Given the description of an element on the screen output the (x, y) to click on. 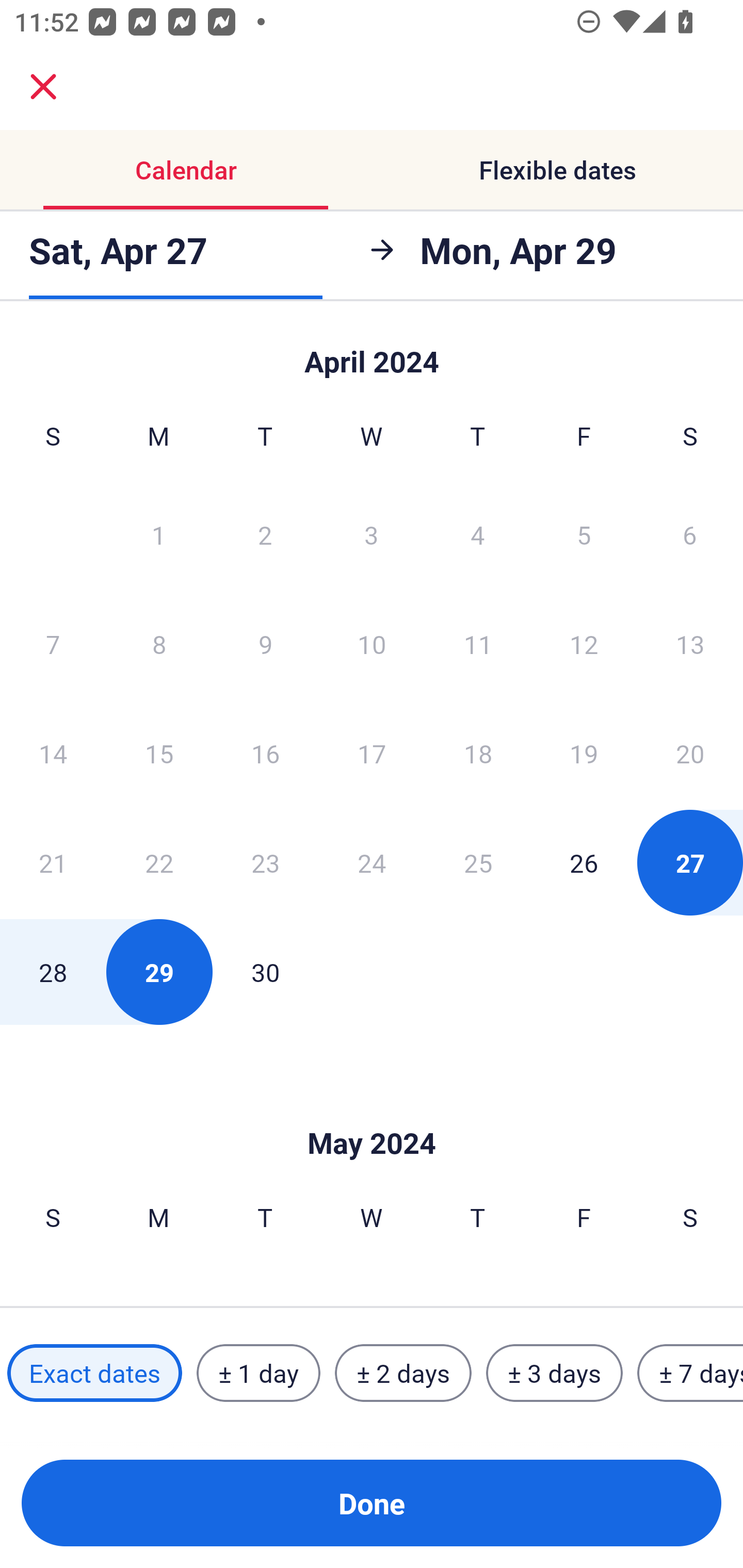
close. (43, 86)
Flexible dates (557, 170)
Skip to Done (371, 352)
1 Monday, April 1, 2024 (158, 534)
2 Tuesday, April 2, 2024 (264, 534)
3 Wednesday, April 3, 2024 (371, 534)
4 Thursday, April 4, 2024 (477, 534)
5 Friday, April 5, 2024 (583, 534)
6 Saturday, April 6, 2024 (689, 534)
7 Sunday, April 7, 2024 (53, 643)
8 Monday, April 8, 2024 (159, 643)
9 Tuesday, April 9, 2024 (265, 643)
10 Wednesday, April 10, 2024 (371, 643)
11 Thursday, April 11, 2024 (477, 643)
12 Friday, April 12, 2024 (584, 643)
13 Saturday, April 13, 2024 (690, 643)
14 Sunday, April 14, 2024 (53, 752)
15 Monday, April 15, 2024 (159, 752)
16 Tuesday, April 16, 2024 (265, 752)
17 Wednesday, April 17, 2024 (371, 752)
18 Thursday, April 18, 2024 (477, 752)
19 Friday, April 19, 2024 (584, 752)
20 Saturday, April 20, 2024 (690, 752)
21 Sunday, April 21, 2024 (53, 862)
22 Monday, April 22, 2024 (159, 862)
23 Tuesday, April 23, 2024 (265, 862)
24 Wednesday, April 24, 2024 (371, 862)
25 Thursday, April 25, 2024 (477, 862)
26 Friday, April 26, 2024 (584, 862)
30 Tuesday, April 30, 2024 (265, 971)
Skip to Done (371, 1112)
Exact dates (94, 1372)
± 1 day (258, 1372)
± 2 days (403, 1372)
± 3 days (553, 1372)
± 7 days (690, 1372)
Done (371, 1502)
